Given the description of an element on the screen output the (x, y) to click on. 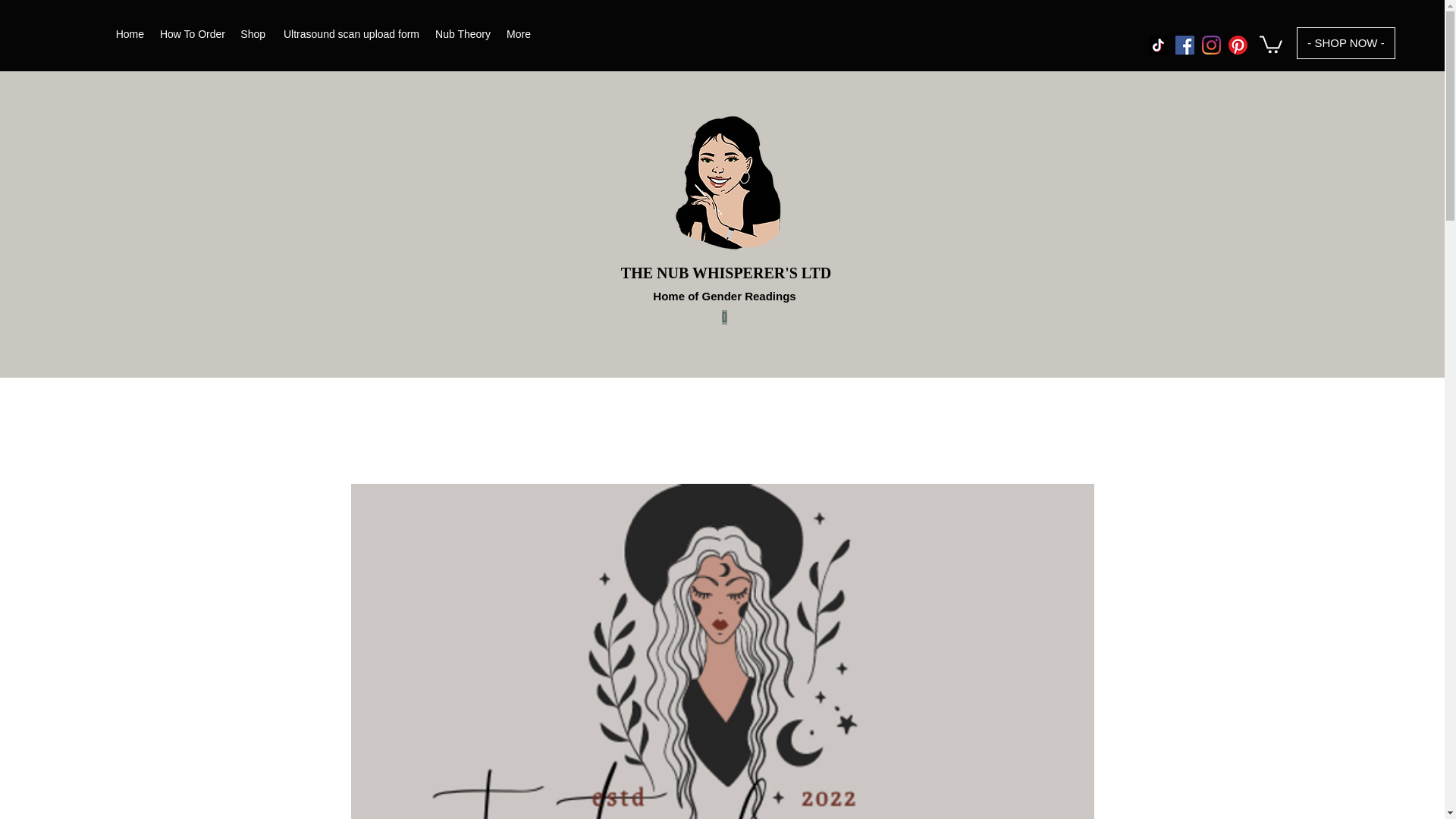
Shop (252, 33)
- SHOP NOW - (1345, 42)
Ultrasound scan upload form (349, 33)
Home (129, 33)
Nub Theory (461, 33)
How To Order (191, 33)
